Given the description of an element on the screen output the (x, y) to click on. 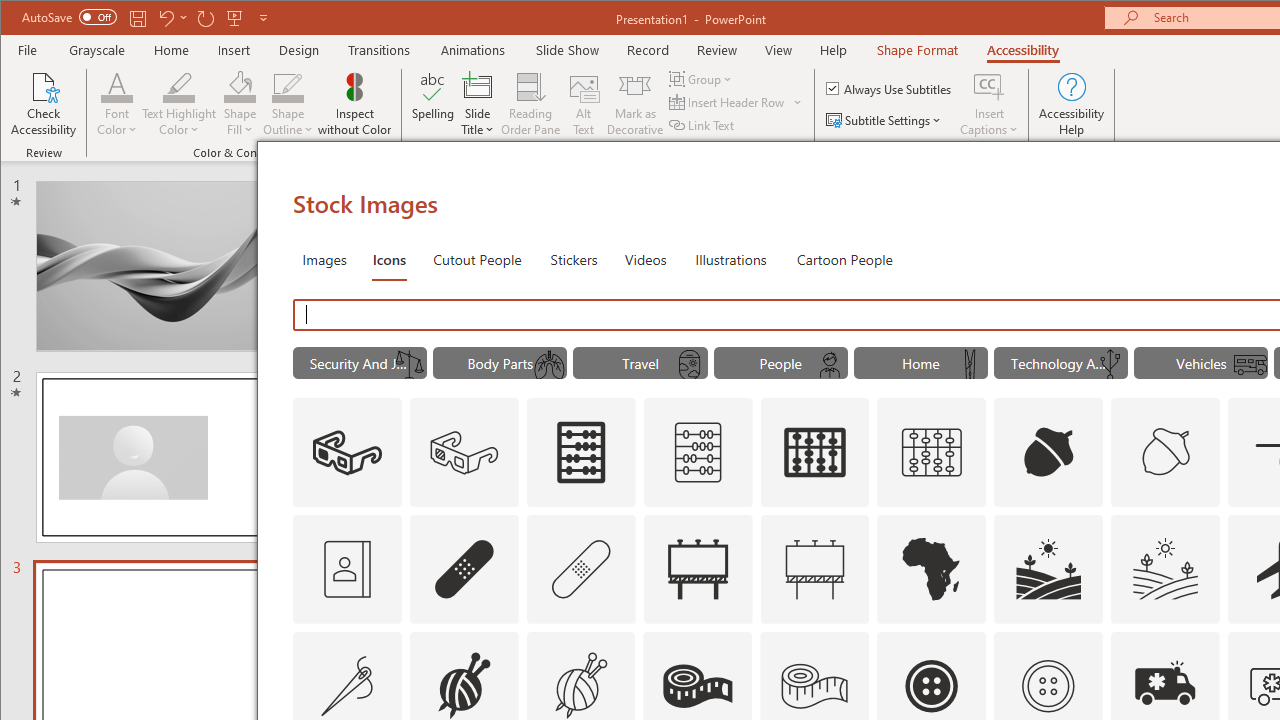
Text Highlight Color (178, 104)
Shape Outline Blue, Accent 1 (288, 86)
Illustrations (730, 258)
Font Color Red (116, 86)
Images (324, 258)
Group (701, 78)
